Given the description of an element on the screen output the (x, y) to click on. 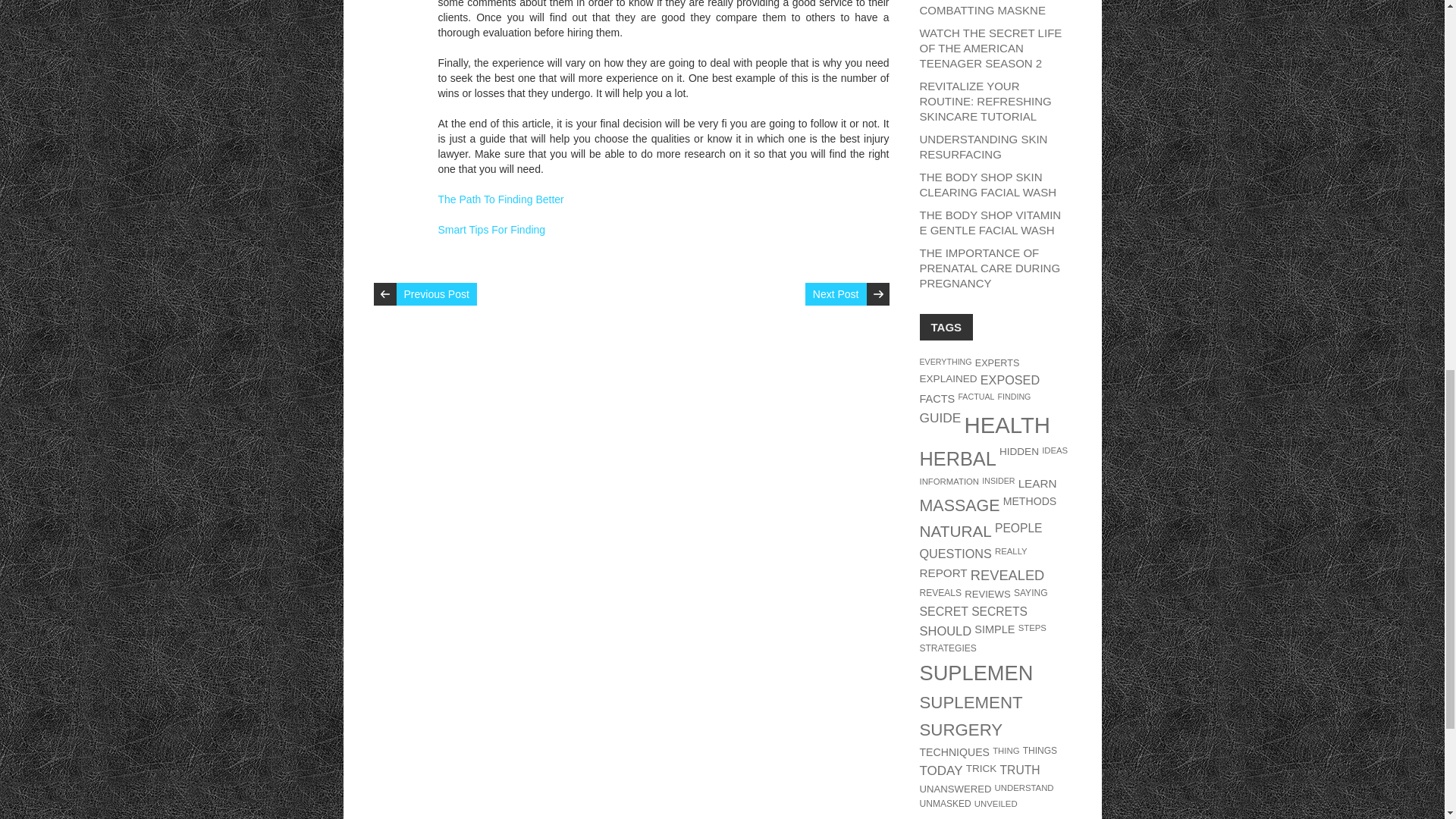
EXPERTS (997, 362)
EXPLAINED (947, 378)
COMBATTING MASKNE (981, 10)
THE BODY SHOP VITAMIN E GENTLE FACIAL WASH (989, 222)
THE BODY SHOP SKIN CLEARING FACIAL WASH (987, 184)
THE IMPORTANCE OF PRENATAL CARE DURING PREGNANCY (988, 267)
Next Post (835, 293)
EVERYTHING (944, 361)
UNDERSTANDING SKIN RESURFACING (982, 146)
Previous Post (436, 293)
WATCH THE SECRET LIFE OF THE AMERICAN TEENAGER SEASON 2 (989, 47)
The Path To Finding Better (501, 199)
Smart Tips For Finding (492, 229)
EXPOSED (1009, 379)
REVITALIZE YOUR ROUTINE: REFRESHING SKINCARE TUTORIAL (984, 100)
